Given the description of an element on the screen output the (x, y) to click on. 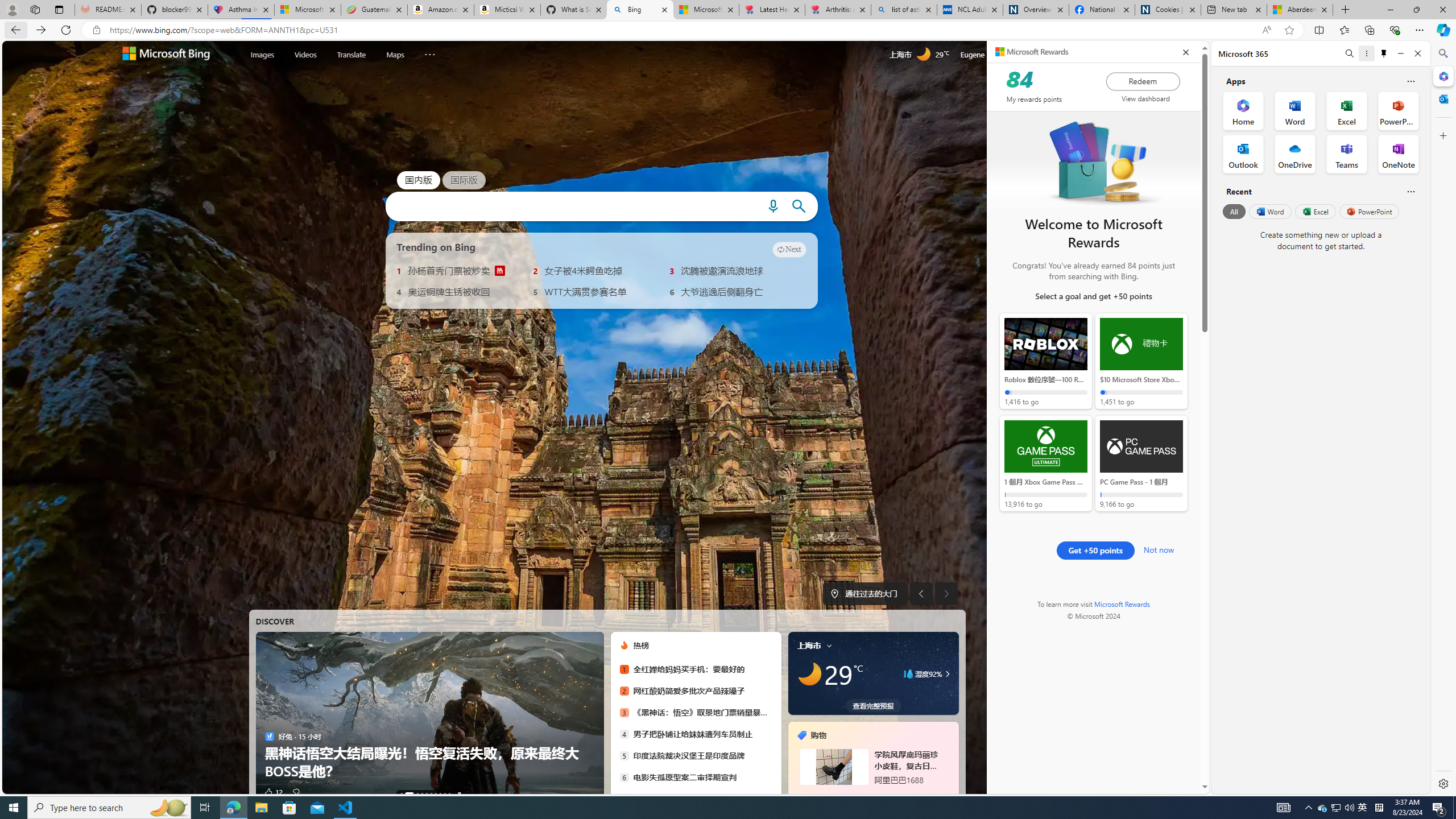
Search using voice (772, 205)
Word Office App (1295, 110)
Maps (394, 53)
